Given the description of an element on the screen output the (x, y) to click on. 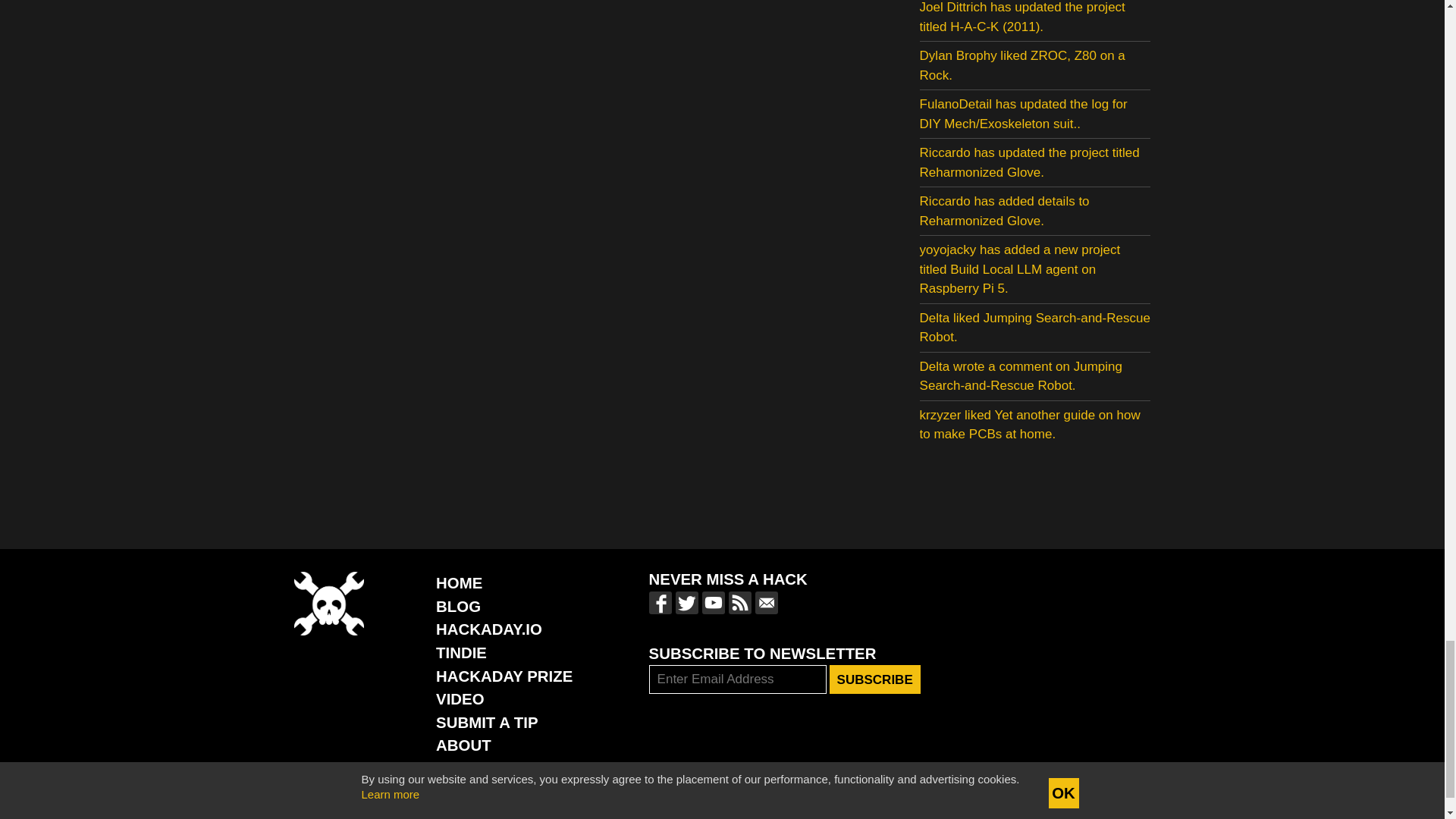
Build Something that Matters (503, 676)
Subscribe (874, 679)
